Given the description of an element on the screen output the (x, y) to click on. 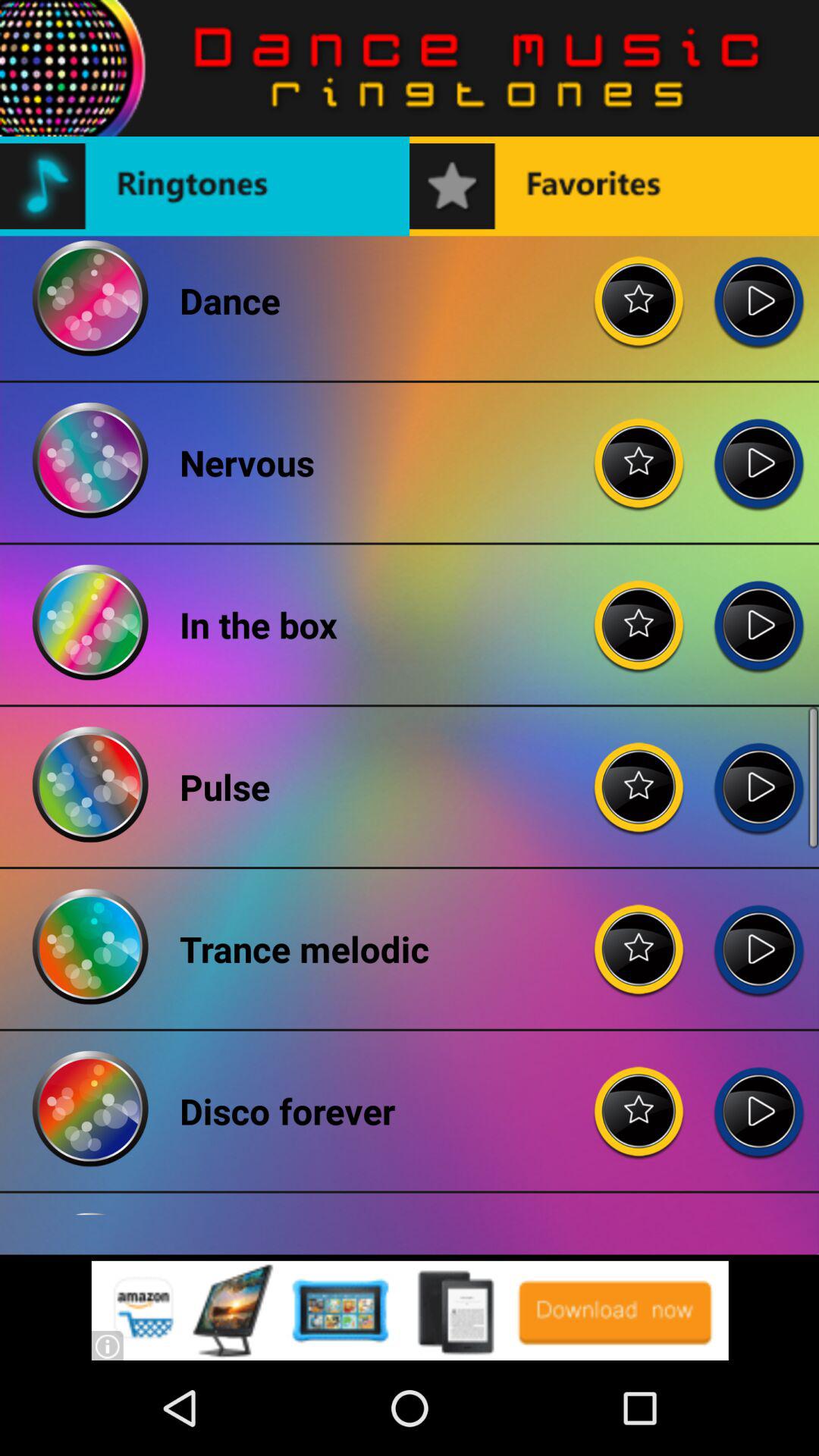
save the article (639, 288)
